Given the description of an element on the screen output the (x, y) to click on. 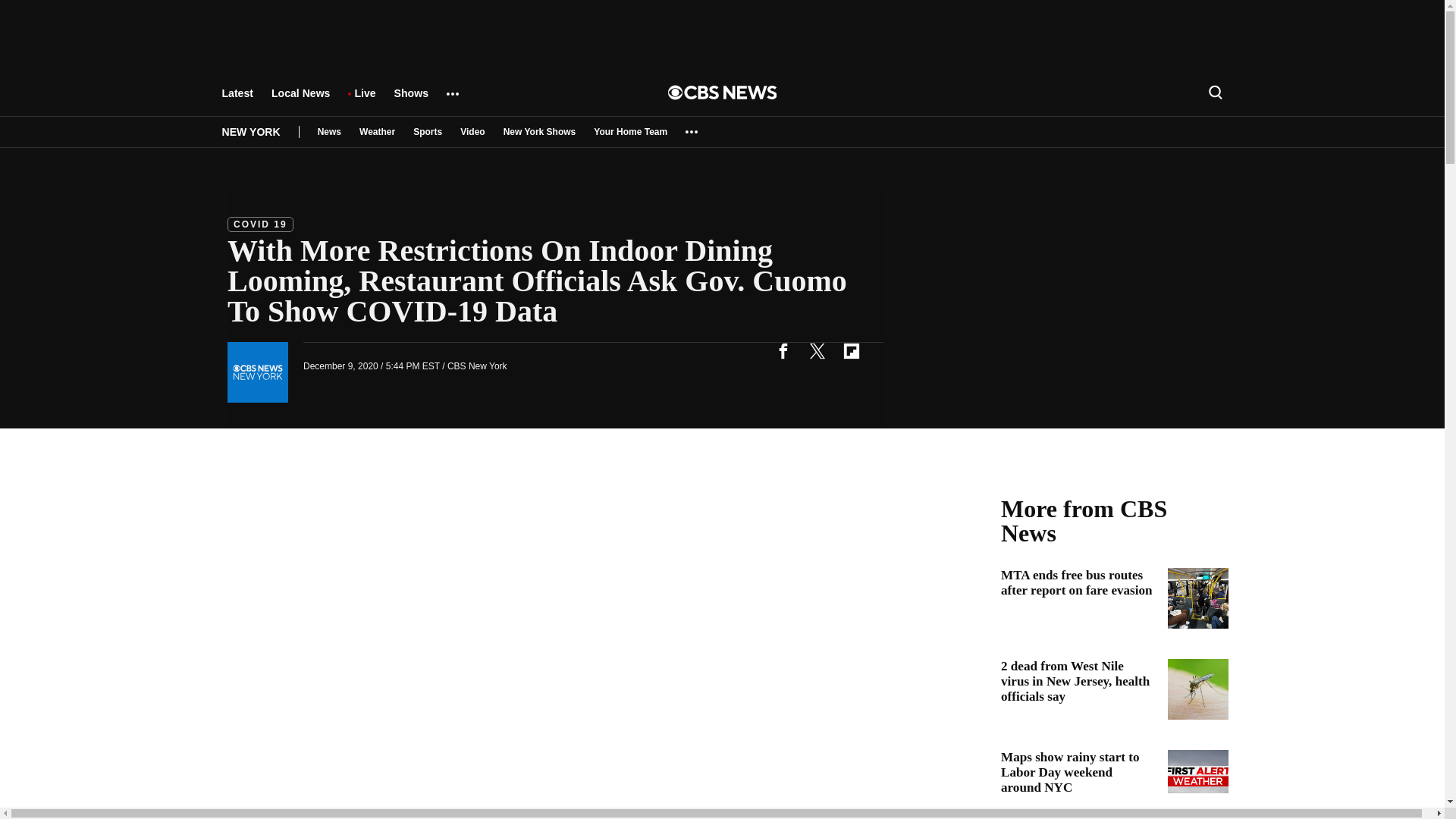
facebook (782, 350)
Local News (300, 100)
flipboard (850, 350)
Latest (236, 100)
twitter (816, 350)
